Given the description of an element on the screen output the (x, y) to click on. 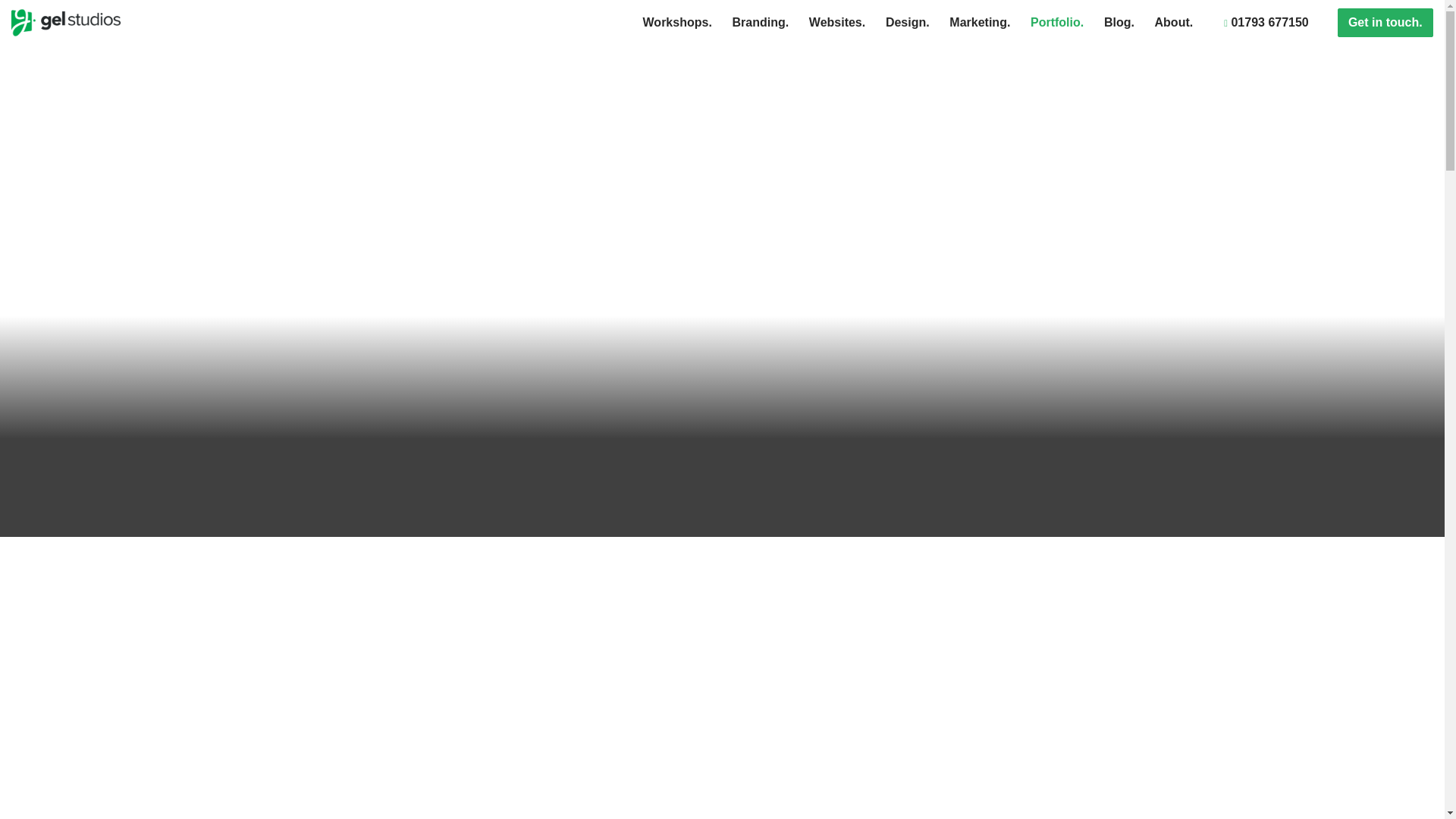
Branding. (759, 22)
Get in touch. (1385, 22)
Blog. (1119, 22)
Workshops. (676, 22)
Portfolio. (1057, 22)
Design. (907, 22)
Websites. (836, 22)
01793 677150 (1266, 22)
About. (1173, 22)
Marketing. (979, 22)
